Given the description of an element on the screen output the (x, y) to click on. 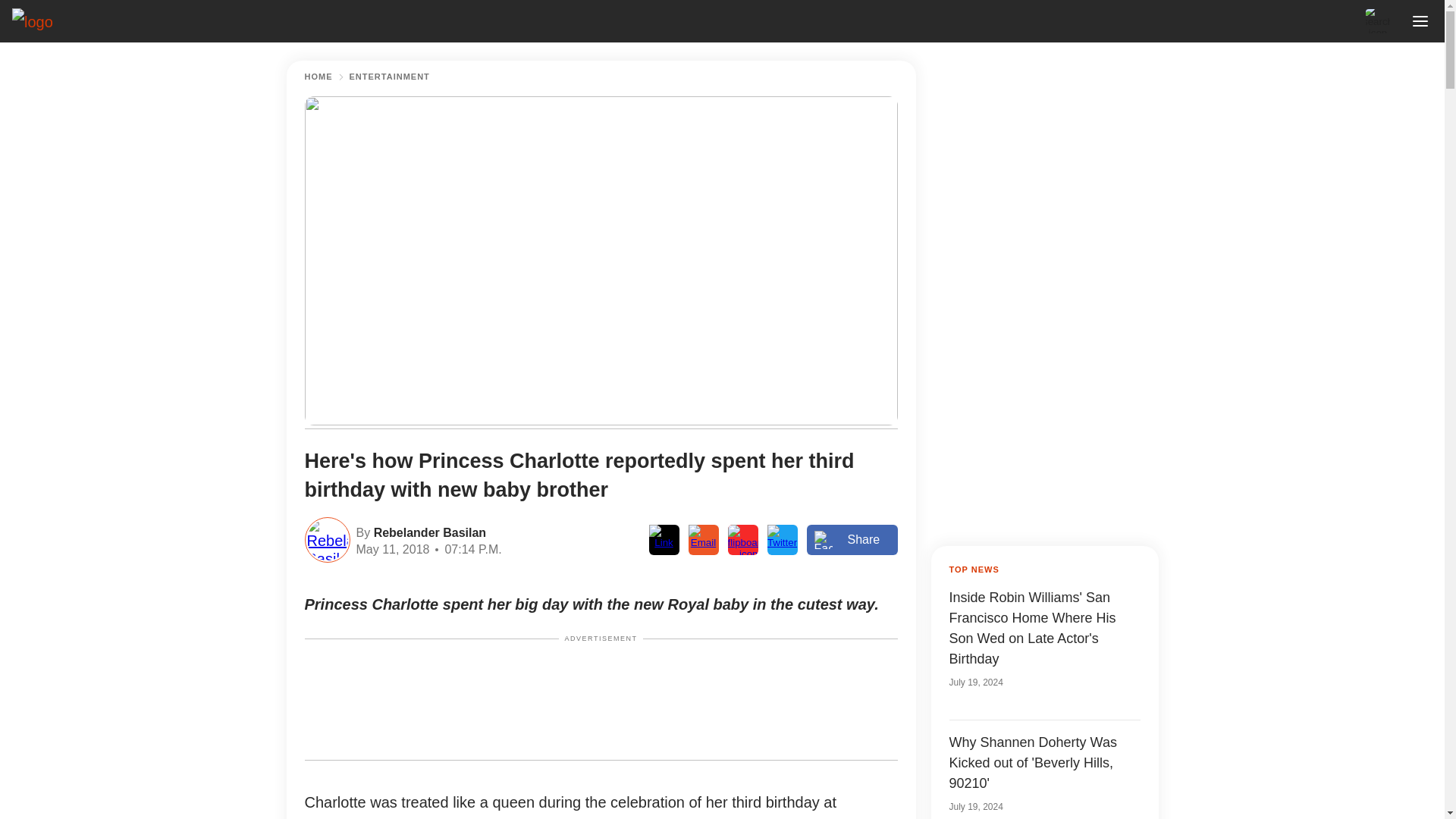
ENTERTAINMENT (389, 76)
Rebelander Basilan (427, 531)
HOME (318, 76)
